Given the description of an element on the screen output the (x, y) to click on. 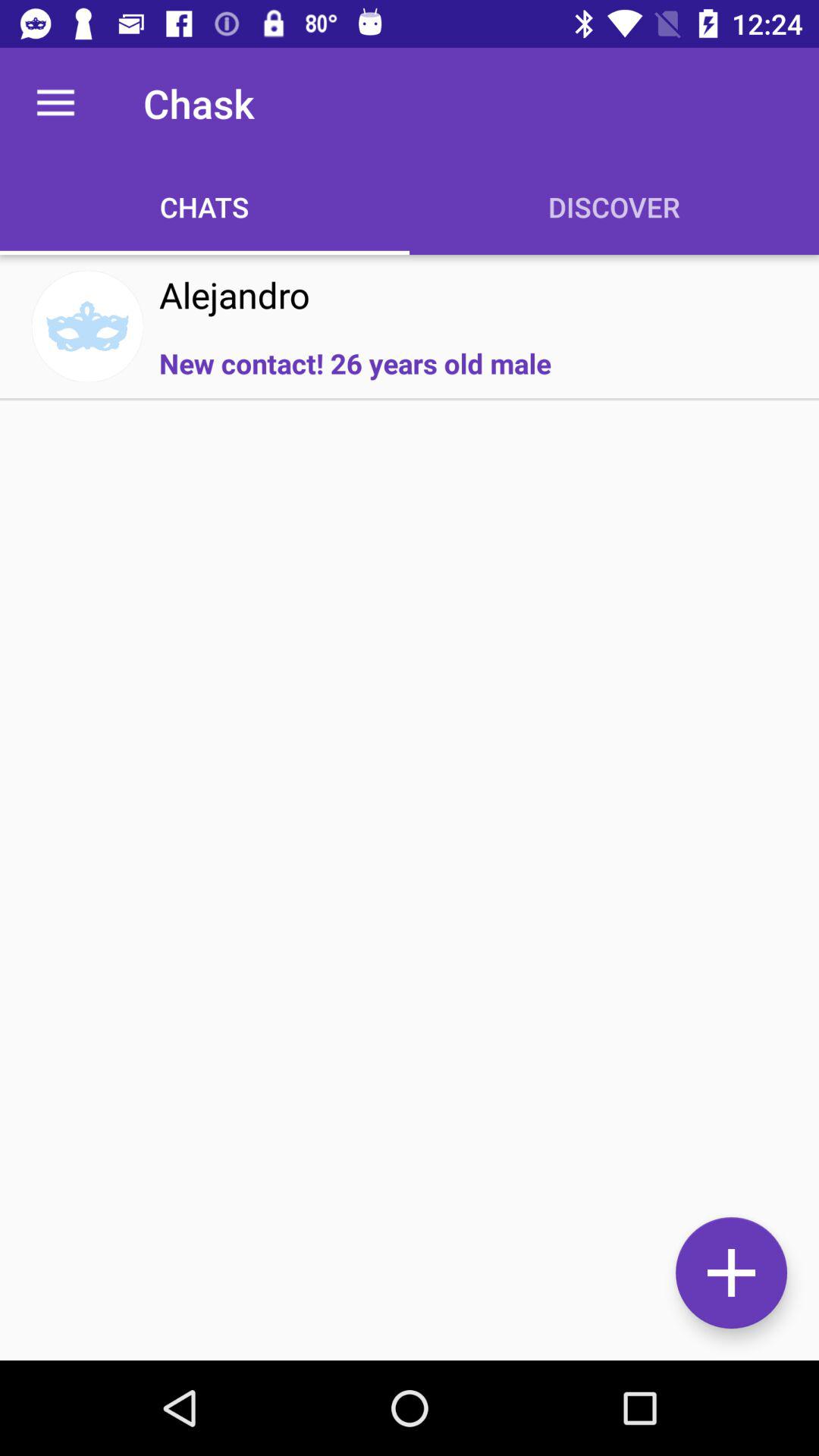
start new chat (731, 1272)
